Given the description of an element on the screen output the (x, y) to click on. 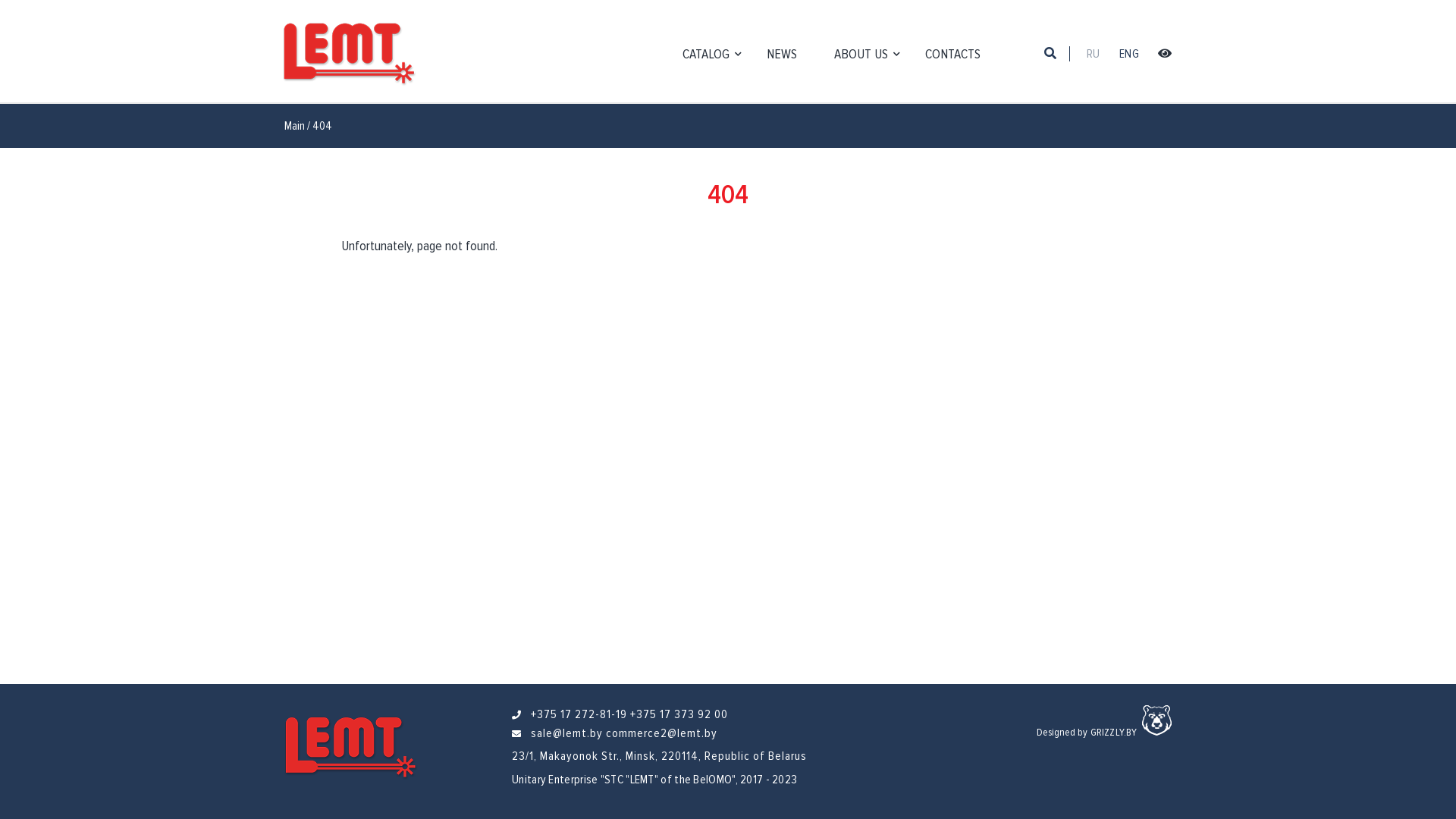
+375 17 272-81-19 Element type: text (578, 713)
404 Element type: text (322, 125)
CATALOG Element type: text (711, 53)
Designed by GRIZZLY.BY Element type: text (1086, 731)
GRIZZLY DIGITAL COMPANY Element type: hover (1156, 720)
commerce2@lemt.by Element type: text (661, 732)
NEWS Element type: text (787, 53)
+375 17 373 92 00 Element type: text (679, 713)
sale@lemt.by Element type: text (566, 732)
Main Element type: text (294, 125)
ENG Element type: text (1129, 53)
ABOUT US Element type: text (867, 53)
CONTACTS Element type: text (958, 53)
RU Element type: text (1093, 53)
